Given the description of an element on the screen output the (x, y) to click on. 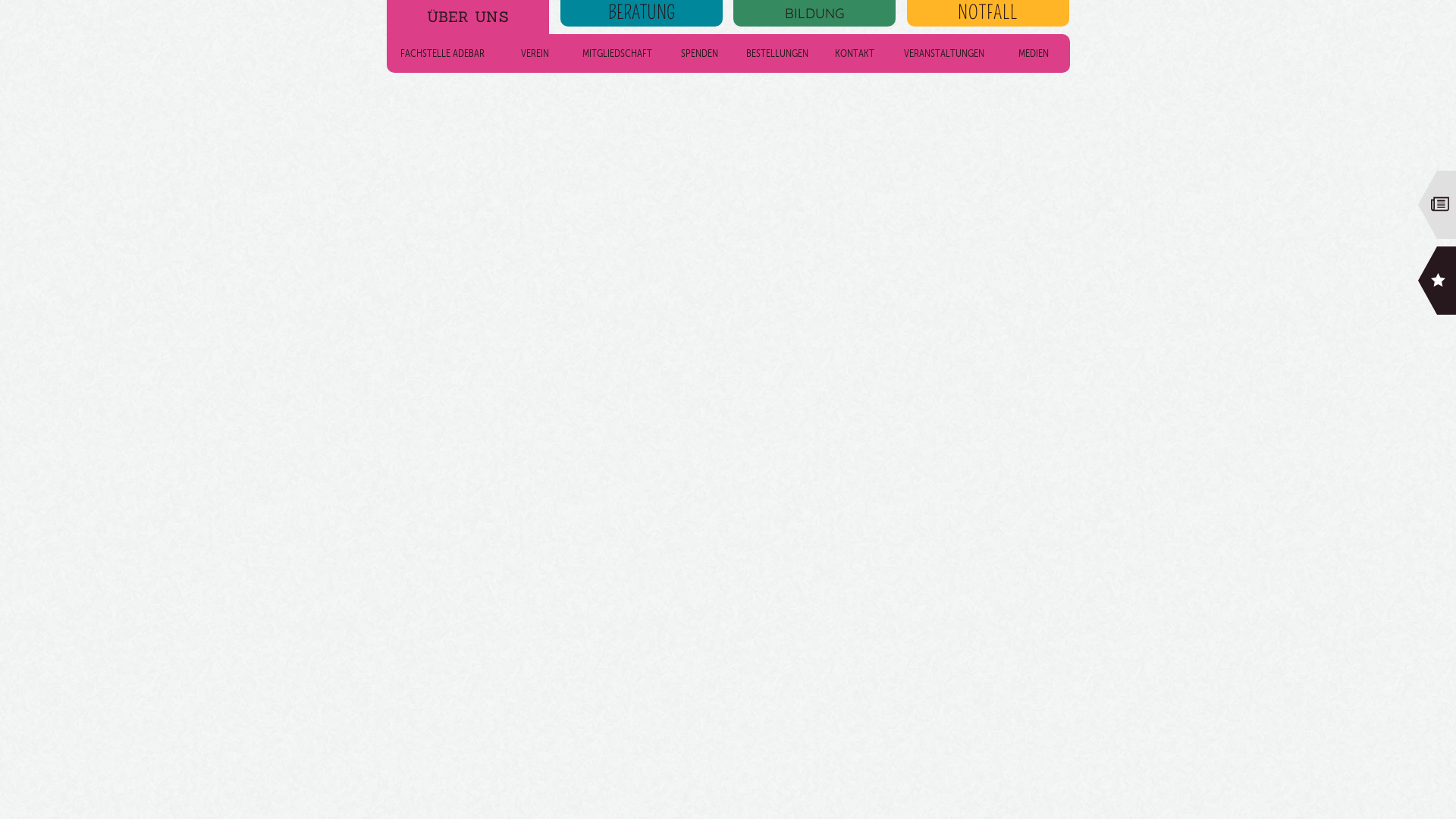
VEREIN Element type: text (534, 57)
BESTELLUNGEN Element type: text (777, 53)
VERANSTALTUNGEN Element type: text (943, 53)
SPENDEN Element type: text (699, 53)
MITGLIEDSCHAFT Element type: text (617, 53)
NOTFALL Element type: text (987, 13)
BERATUNG Element type: text (641, 13)
FACHSTELLE ADEBAR Element type: text (442, 53)
MEDIEN Element type: text (1033, 53)
KONTAKT Element type: text (854, 53)
BILDUNG Element type: text (814, 13)
